Given the description of an element on the screen output the (x, y) to click on. 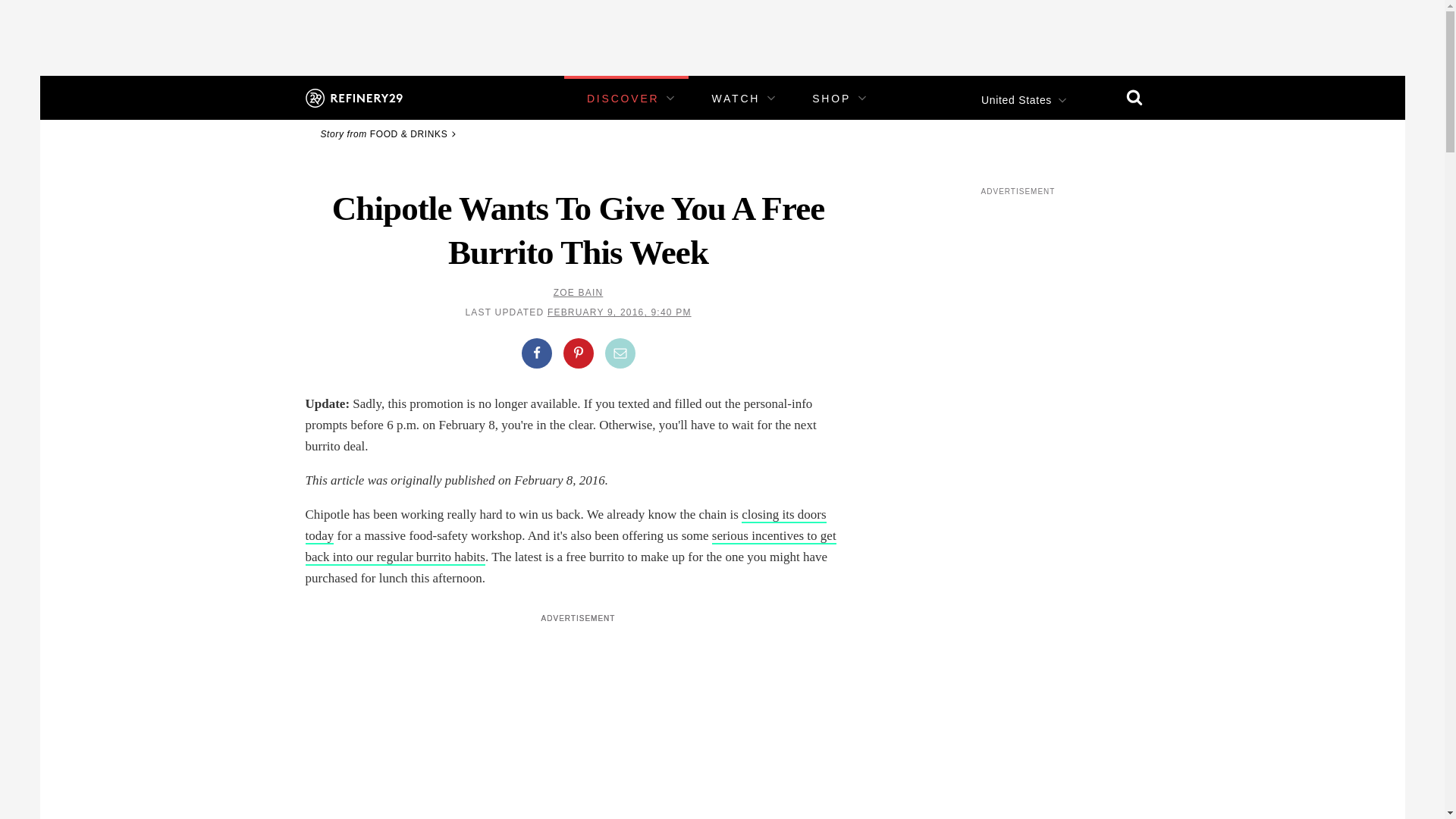
ZOE BAIN (578, 292)
SHOP (831, 98)
Share by Email (619, 353)
WATCH (735, 98)
closing its doors today (564, 525)
Share on Pinterest (577, 353)
DISCOVER (622, 98)
Refinery29 (352, 97)
FEBRUARY 9, 2016, 9:40 PM (619, 312)
